Given the description of an element on the screen output the (x, y) to click on. 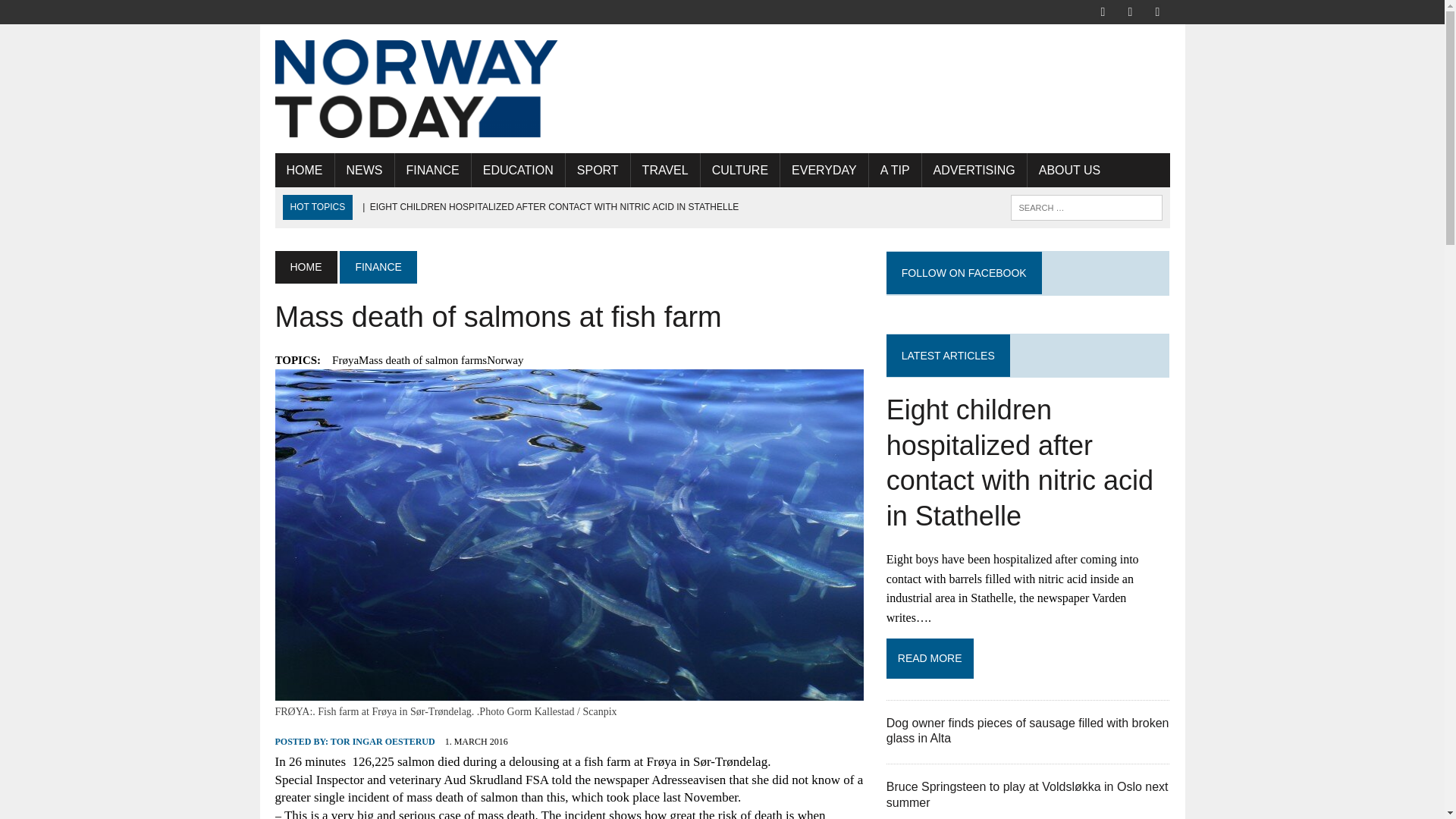
Norway Today (416, 88)
EDUCATION (517, 170)
ABOUT US (1069, 170)
ADVERTISING (973, 170)
HOME (304, 170)
TRAVEL (665, 170)
FINANCE (377, 266)
SPORT (598, 170)
Search (75, 14)
NEWS (364, 170)
